Given the description of an element on the screen output the (x, y) to click on. 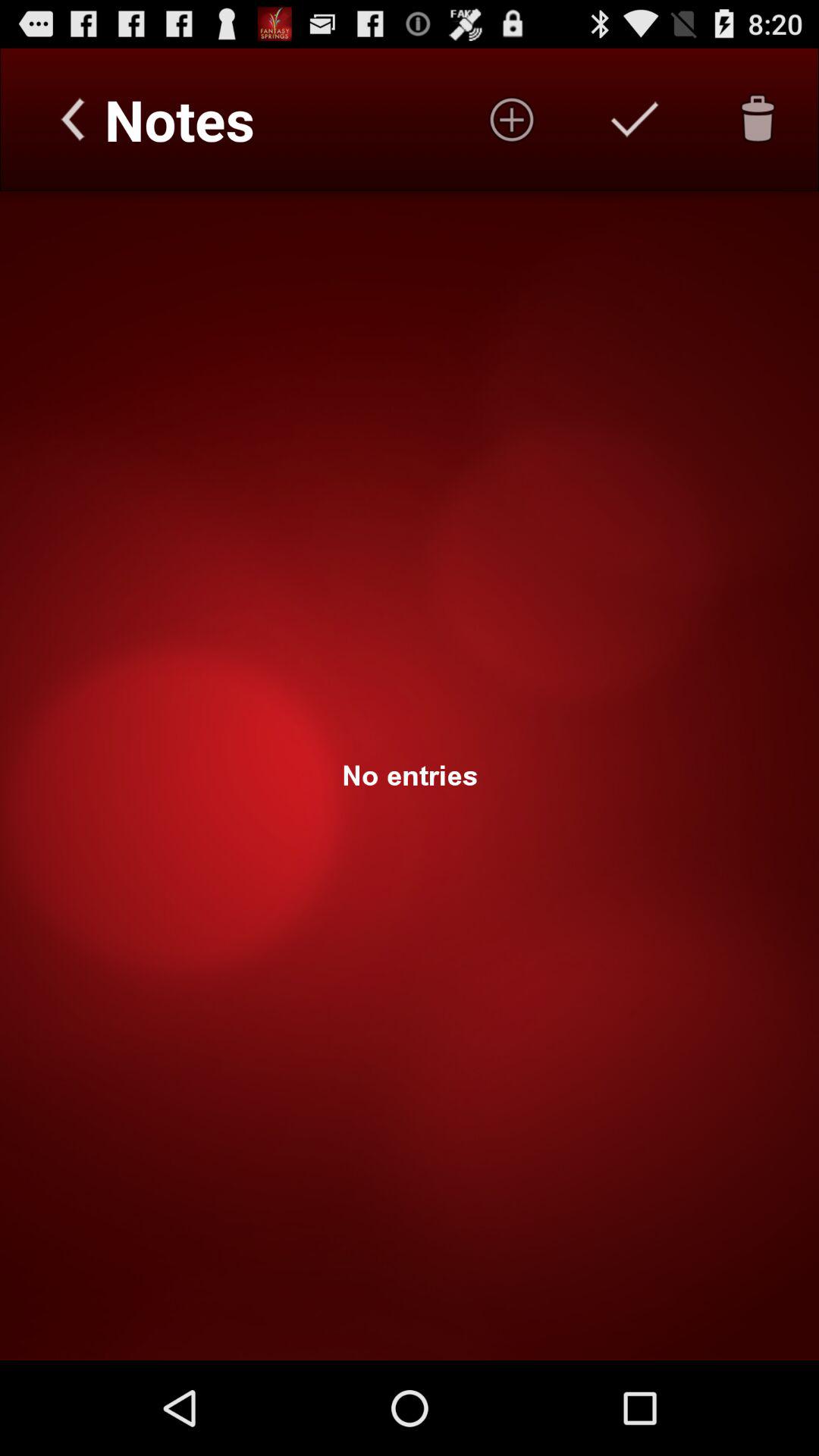
save note (634, 119)
